Given the description of an element on the screen output the (x, y) to click on. 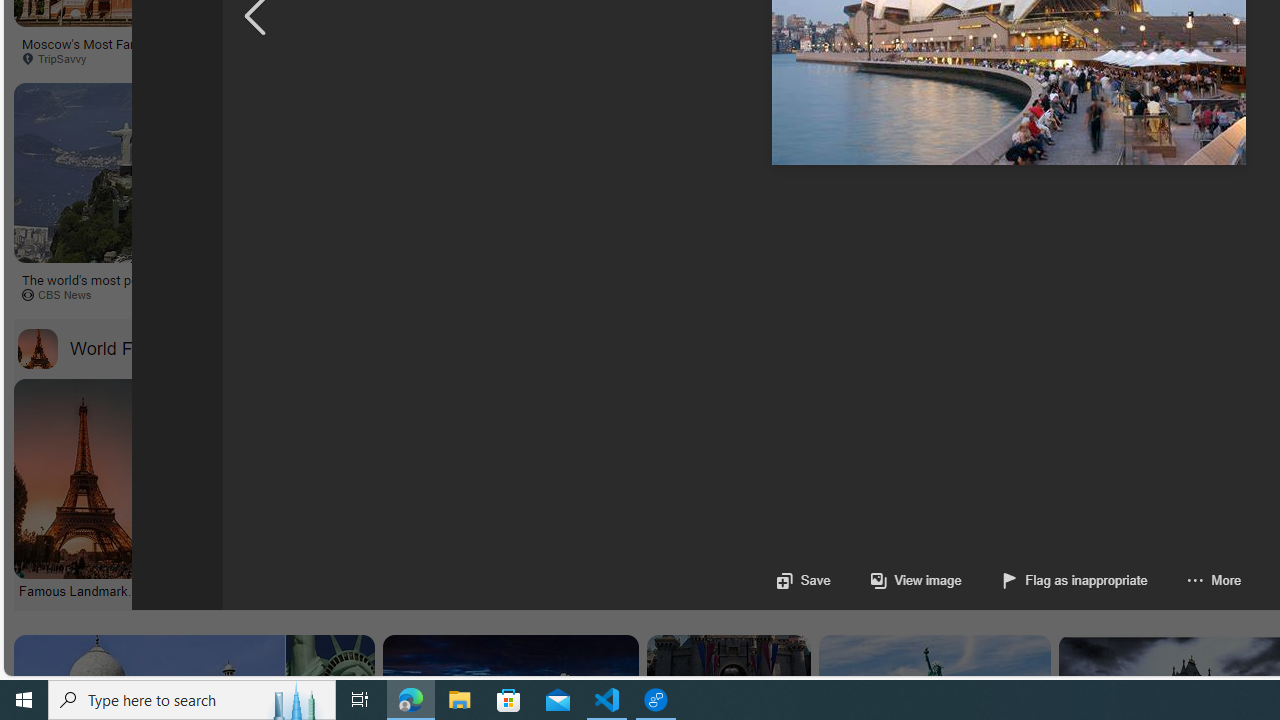
andiamo.co.uk (390, 294)
More (1193, 580)
rainforestcruises.com (1062, 57)
15 Monumental famous landmarks around the world - DCT Travel (286, 589)
Moscow's Most Famous Sites and Attractions for Visitors (172, 50)
View image (916, 580)
View image (895, 580)
Flag as inappropriate (1074, 580)
The world's most popular tourist attractions - CBS News (172, 286)
Image result for World tourist attraction (1009, 172)
